Given the description of an element on the screen output the (x, y) to click on. 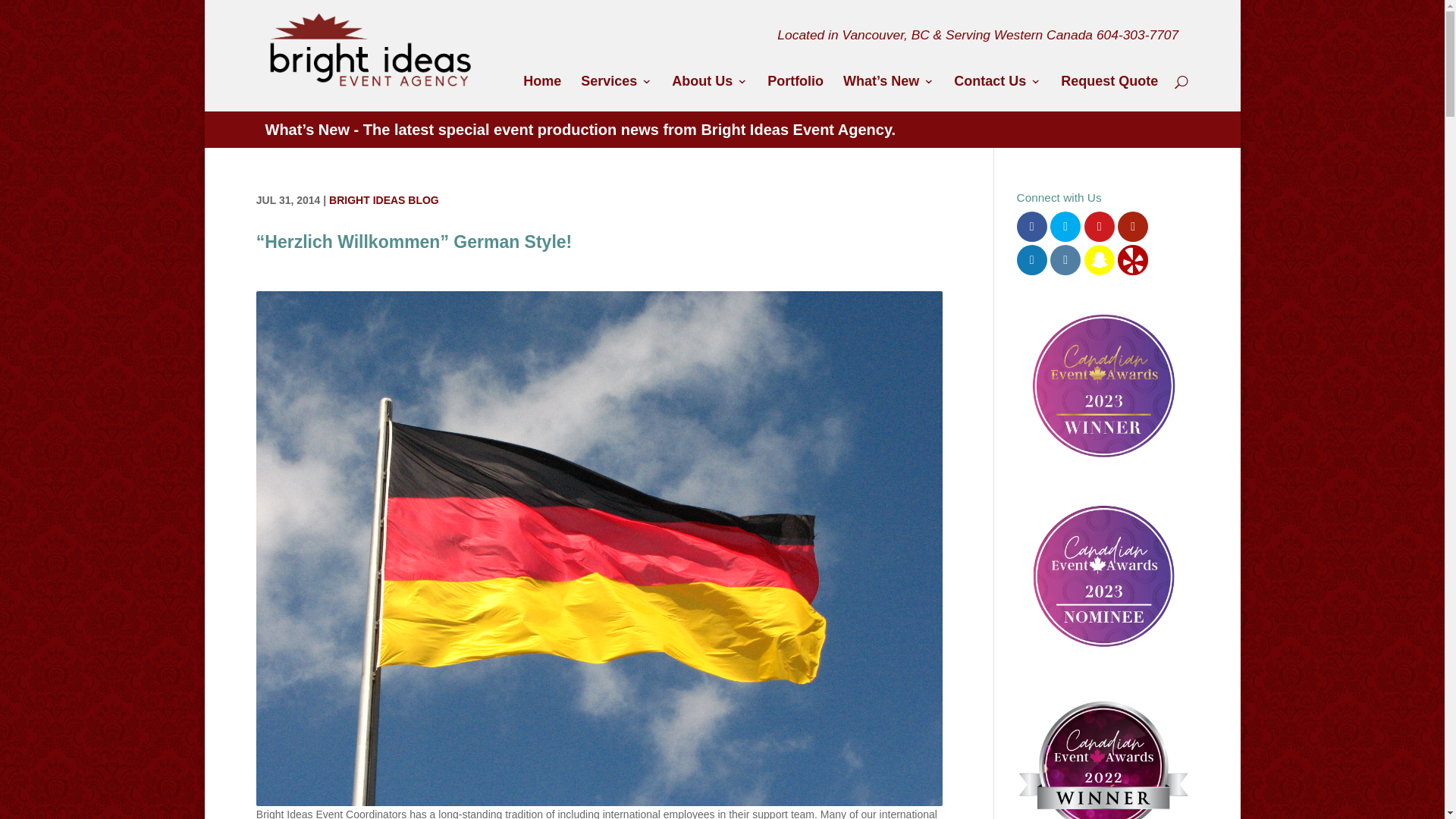
Home (541, 93)
About Us (709, 93)
Portfolio (795, 93)
Contact Us (997, 93)
604-303-7707 (1136, 34)
Request Quote (1109, 93)
Services (616, 93)
